Given the description of an element on the screen output the (x, y) to click on. 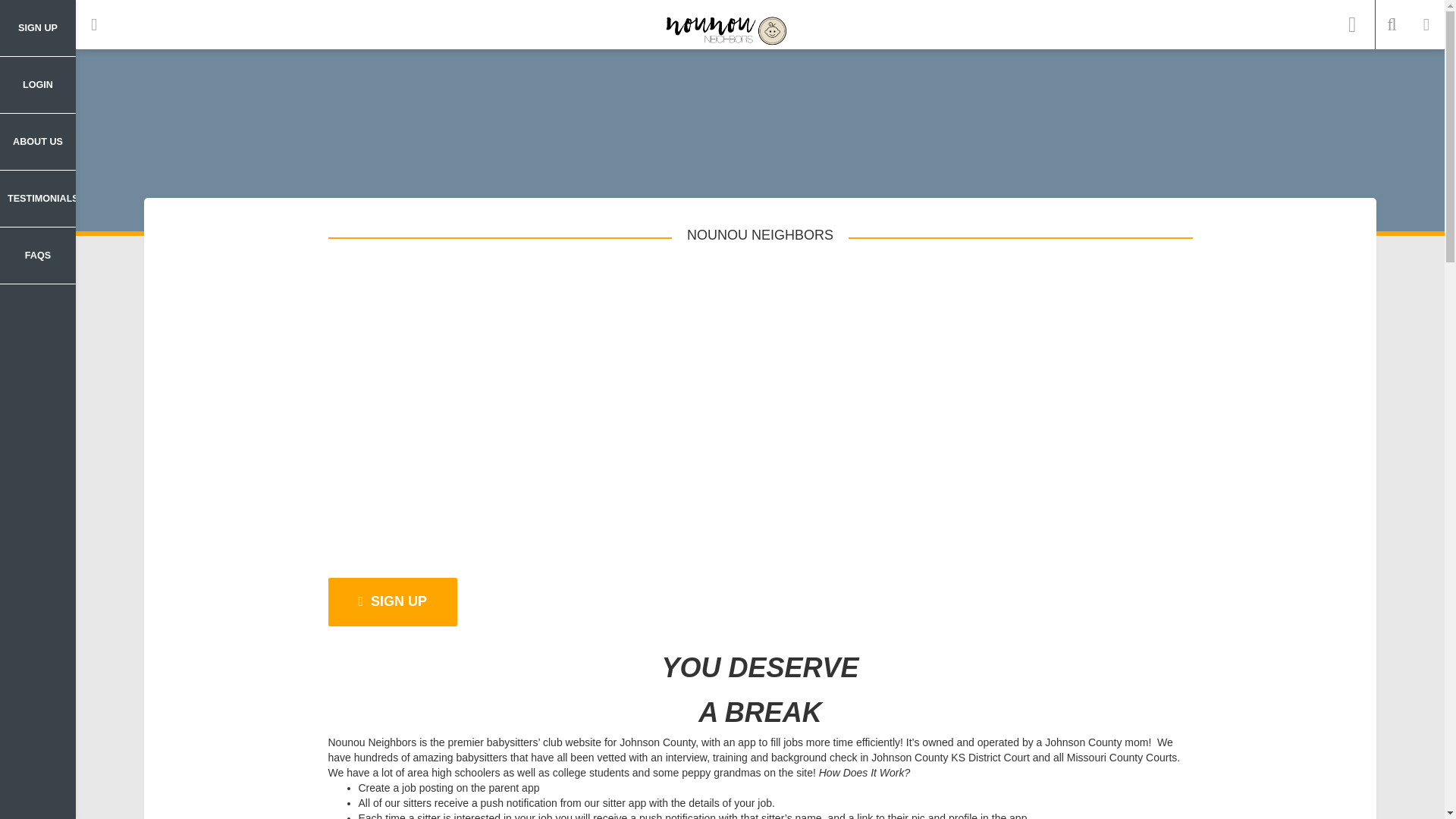
LOGIN (37, 84)
TESTIMONIALS (37, 198)
SIGN UP (37, 28)
FAQS (37, 255)
ABOUT US (37, 141)
